Given the description of an element on the screen output the (x, y) to click on. 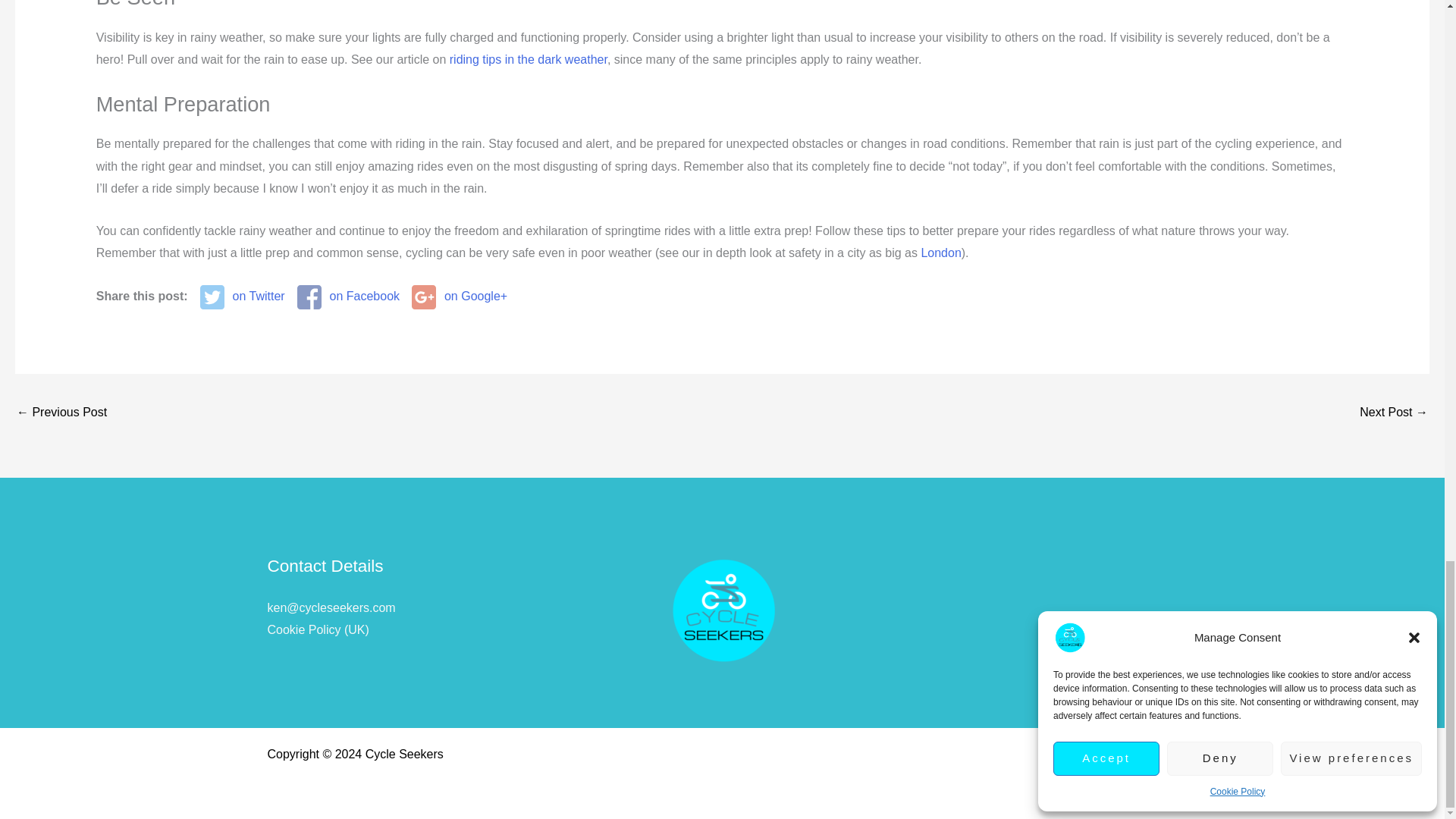
London (940, 252)
on Facebook (347, 296)
riding tips in the dark weather (528, 59)
on Twitter (242, 296)
